Given the description of an element on the screen output the (x, y) to click on. 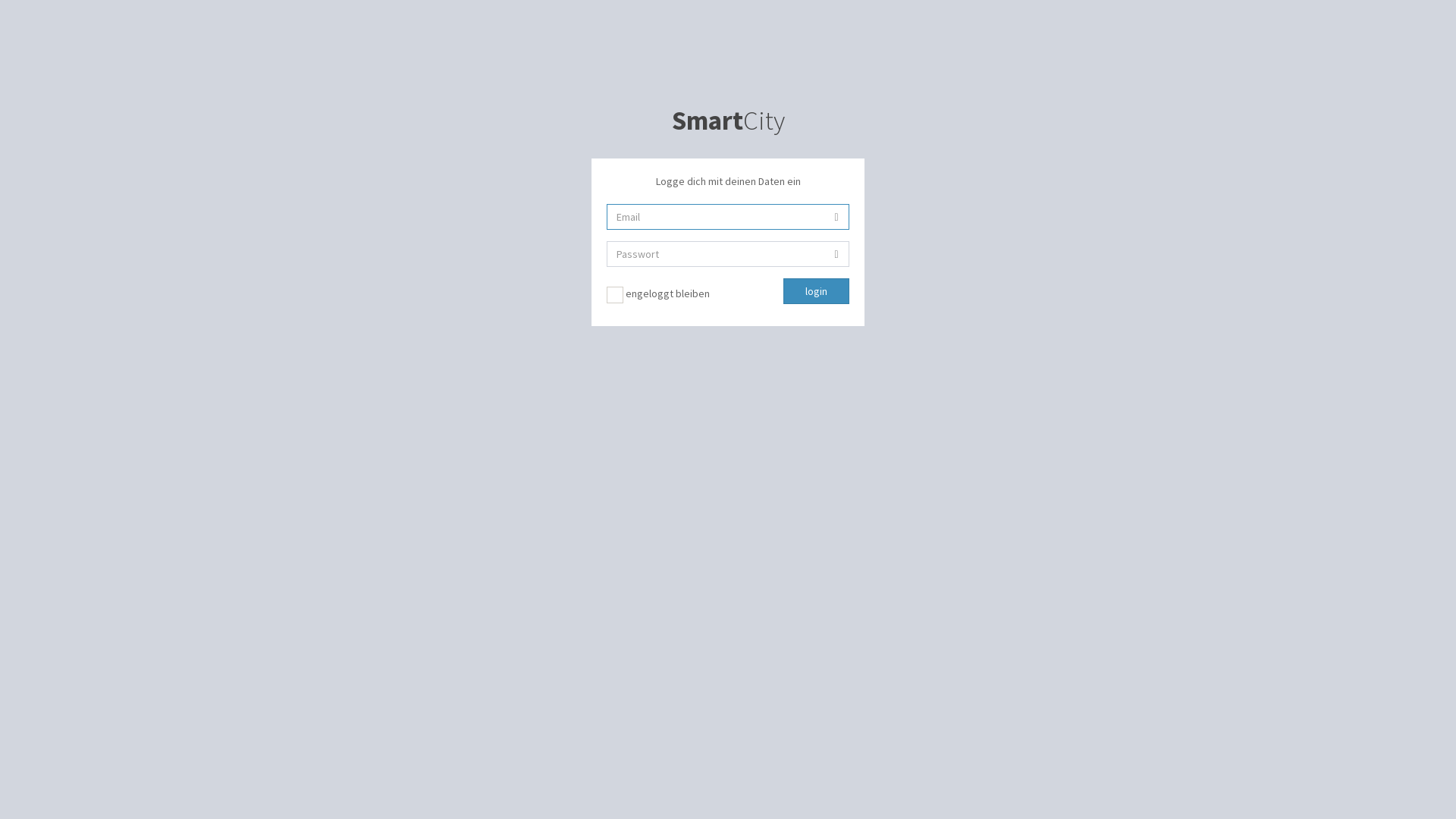
SmartCity Element type: text (727, 120)
login Element type: text (816, 291)
